Given the description of an element on the screen output the (x, y) to click on. 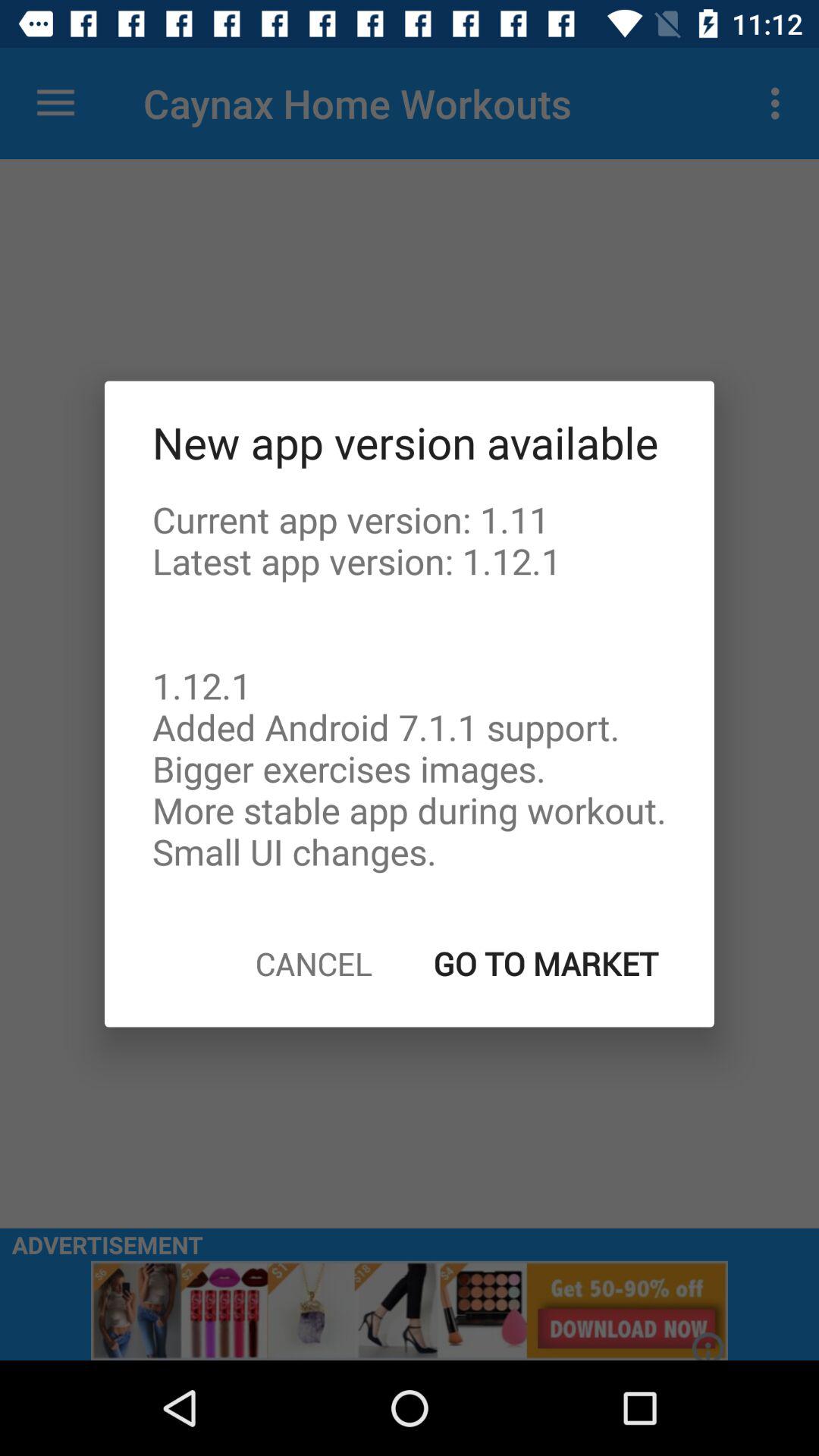
jump to the go to market item (545, 963)
